Given the description of an element on the screen output the (x, y) to click on. 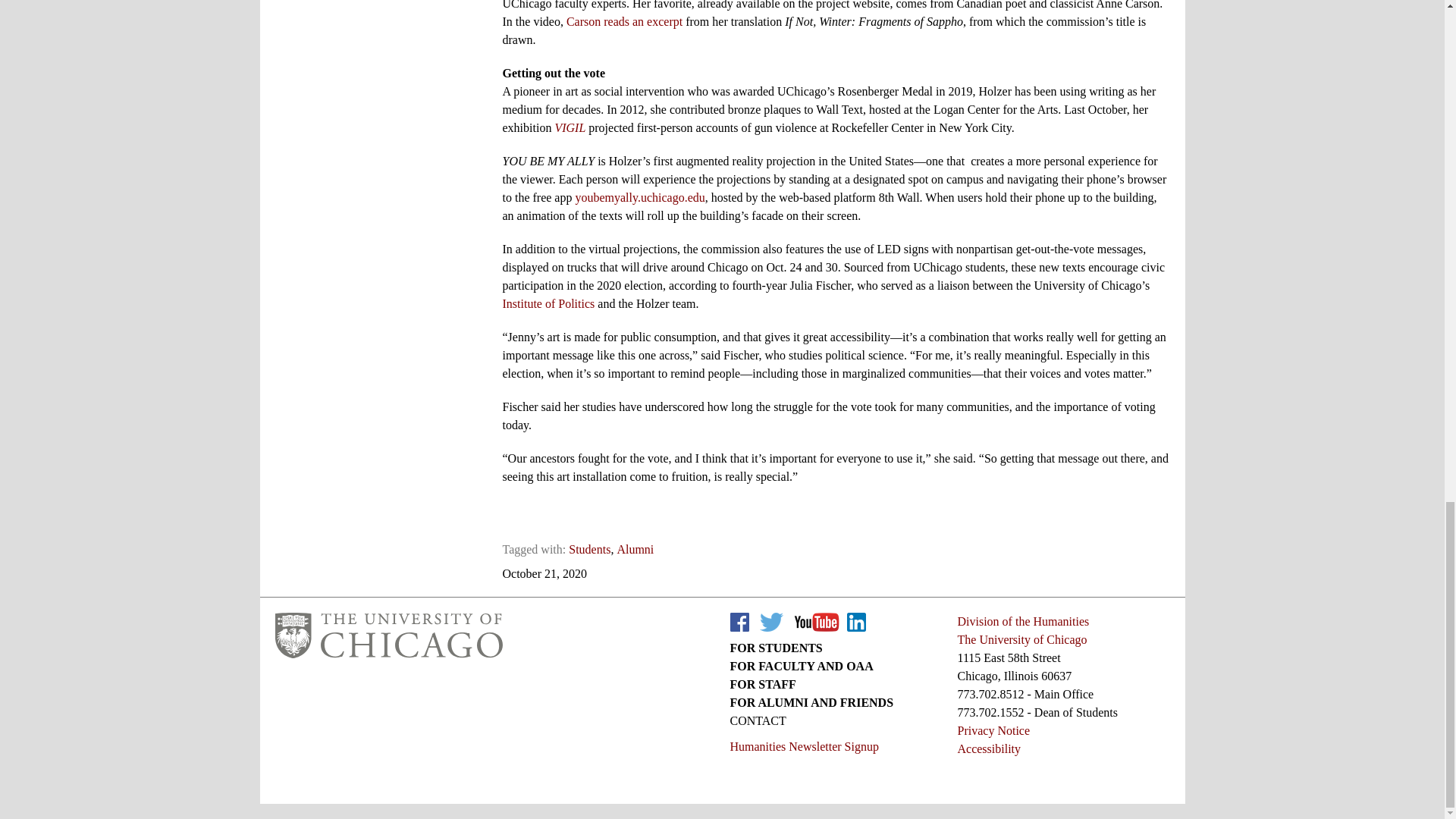
Carson reads an excerpt (624, 21)
youbemyally.uchicago.edu (639, 196)
VIGIL (569, 127)
Institute of Politics (548, 303)
Follow UChicago Humanities on Facebook (738, 621)
